Given the description of an element on the screen output the (x, y) to click on. 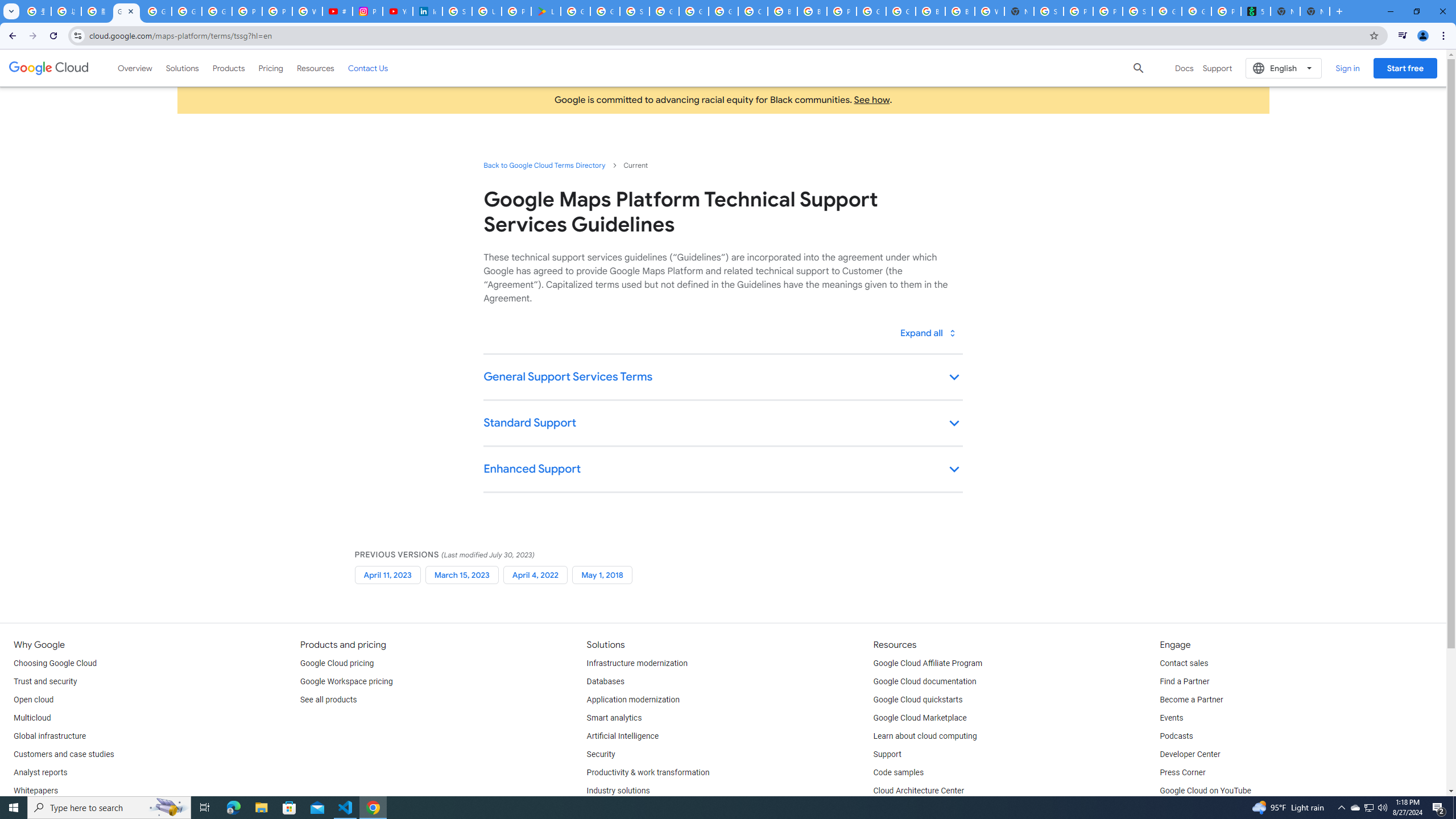
Support (887, 754)
Browse Chrome as a guest - Computer - Google Chrome Help (930, 11)
Google Cloud pricing (336, 663)
Google Cloud quickstarts (917, 700)
Start free (1405, 67)
